Given the description of an element on the screen output the (x, y) to click on. 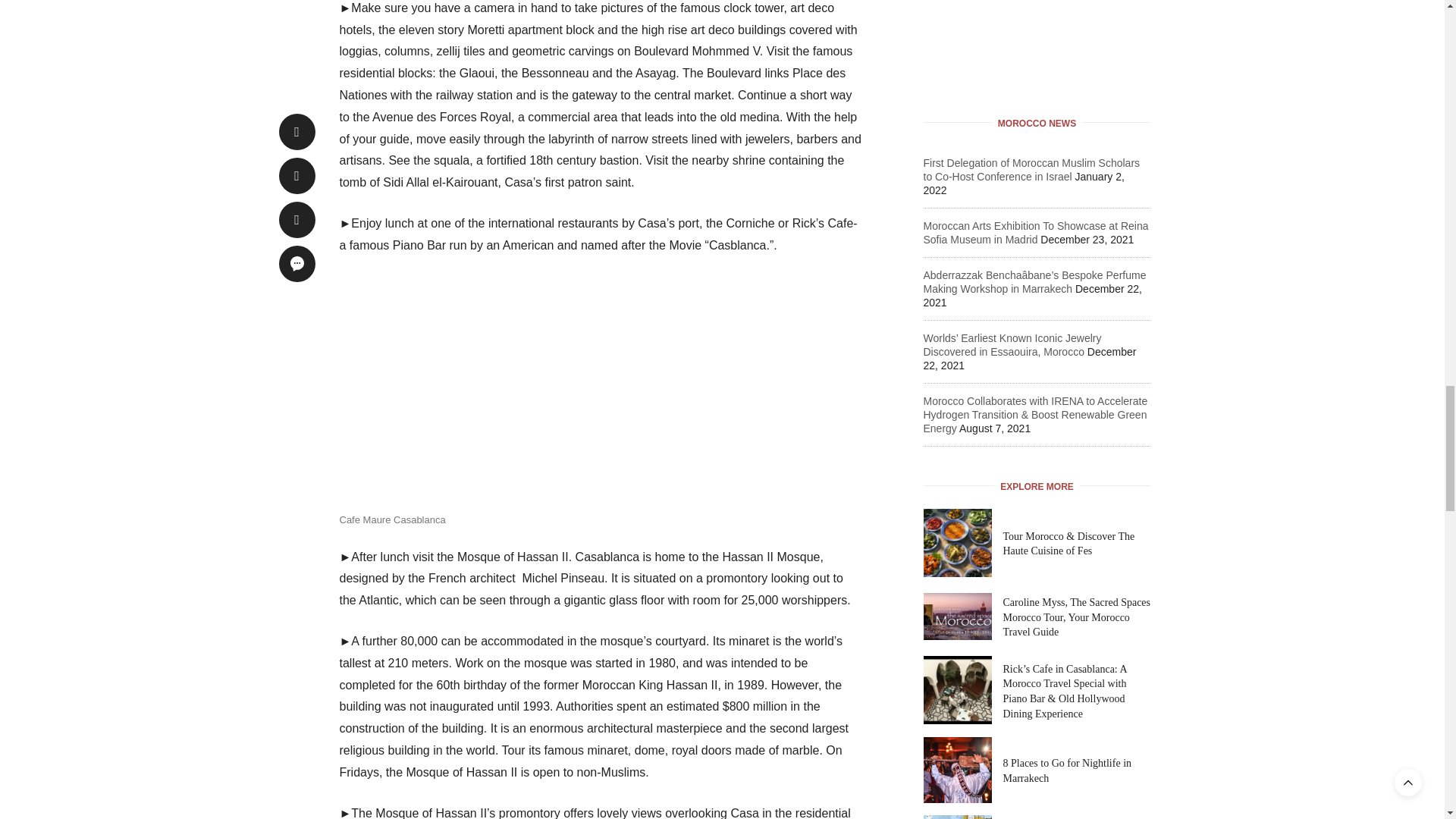
Cafe-Maure- Casablanca (453, 389)
